Given the description of an element on the screen output the (x, y) to click on. 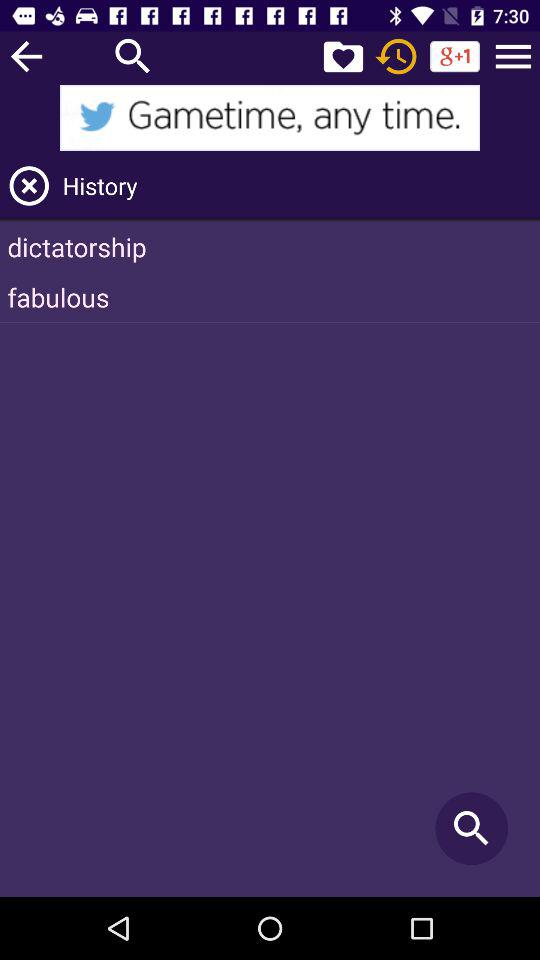
show more history (513, 56)
